Given the description of an element on the screen output the (x, y) to click on. 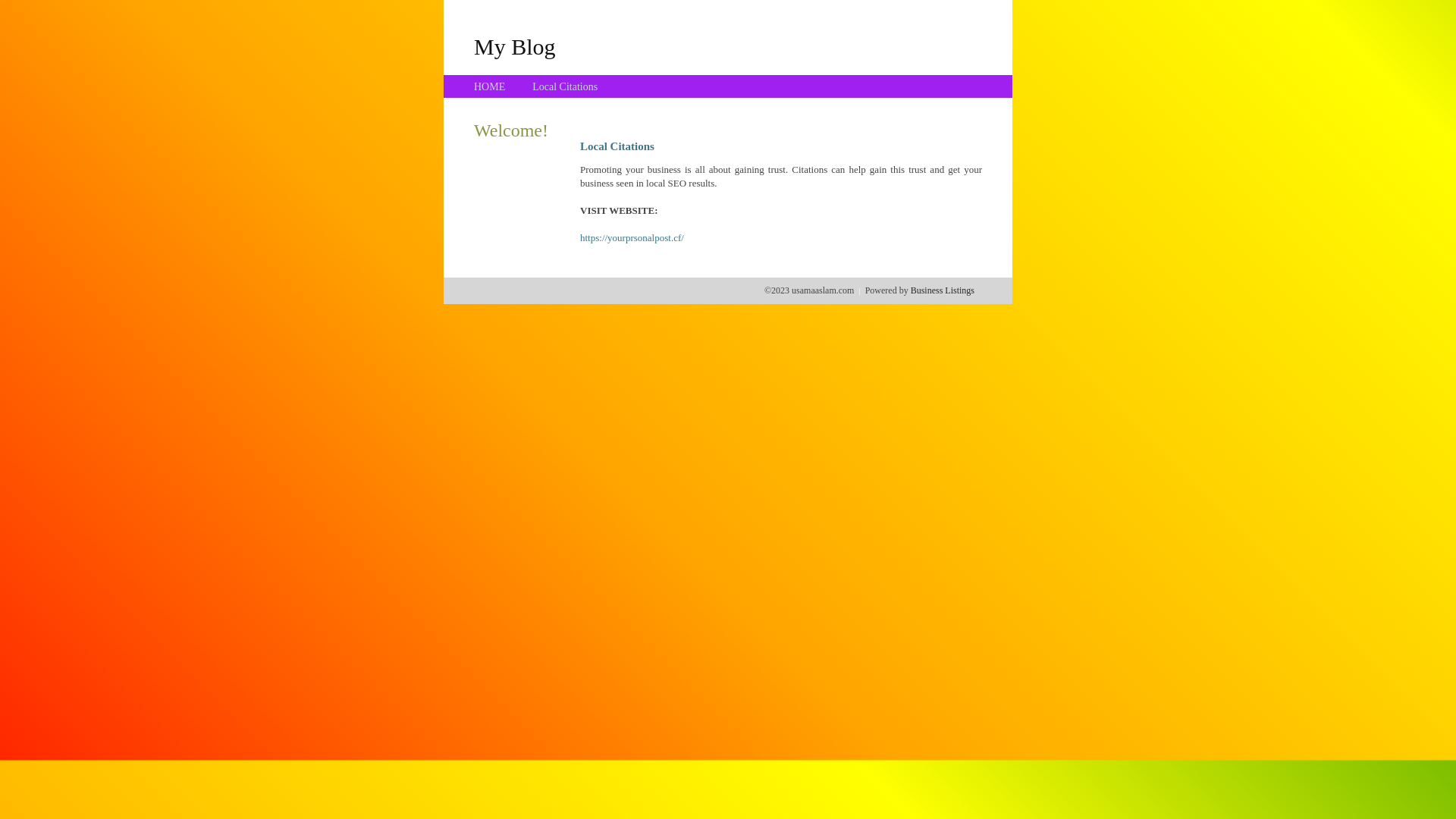
HOME Element type: text (489, 86)
Business Listings Element type: text (942, 290)
My Blog Element type: text (514, 46)
https://yourprsonalpost.cf/ Element type: text (632, 237)
Local Citations Element type: text (564, 86)
